Given the description of an element on the screen output the (x, y) to click on. 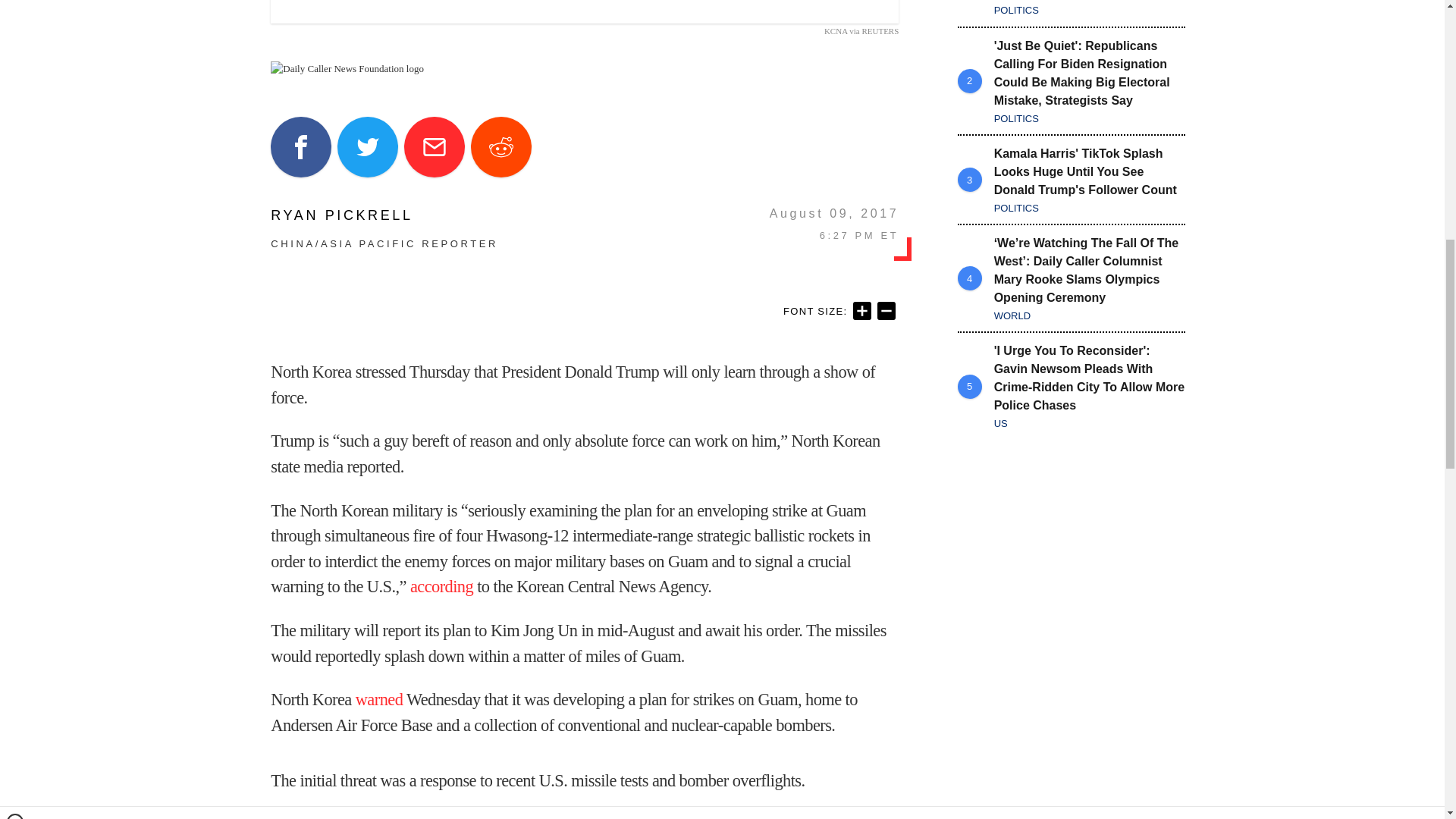
Close window (14, 6)
RYAN PICKRELL (383, 215)
View More Articles By Ryan Pickrell (383, 215)
warned (379, 699)
according (441, 586)
